Given the description of an element on the screen output the (x, y) to click on. 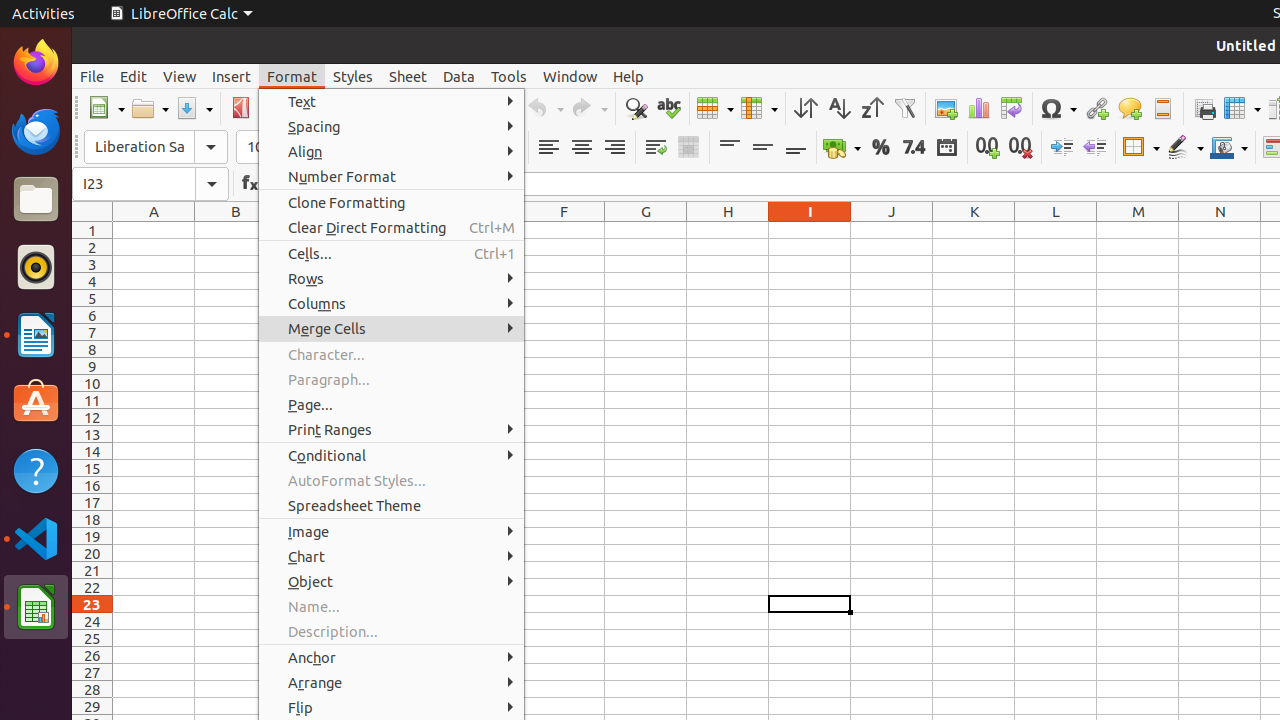
Sort Ascending Element type: push-button (838, 108)
Clear Direct Formatting Element type: menu-item (391, 227)
H1 Element type: table-cell (728, 230)
Align Right Element type: push-button (614, 147)
Description... Element type: menu-item (391, 631)
